Given the description of an element on the screen output the (x, y) to click on. 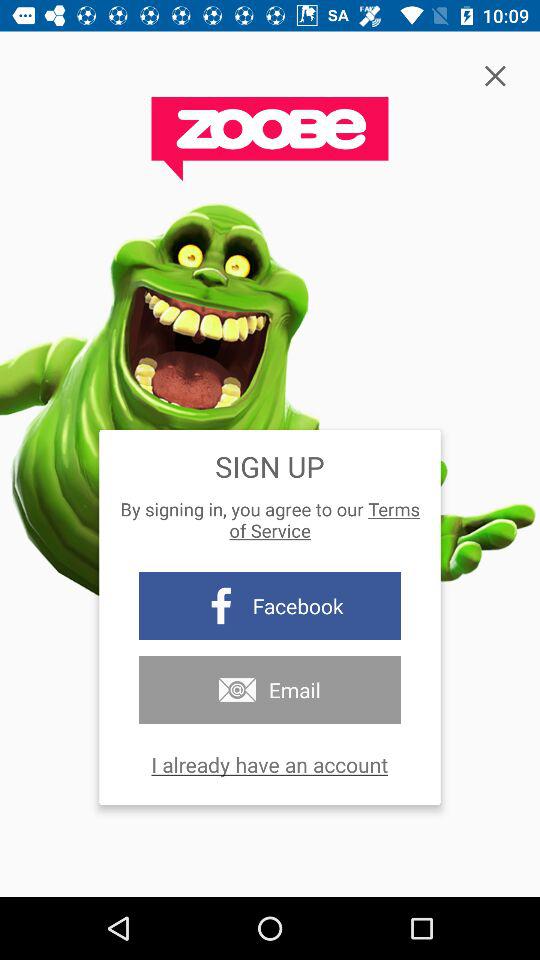
swipe until i already have icon (269, 764)
